Given the description of an element on the screen output the (x, y) to click on. 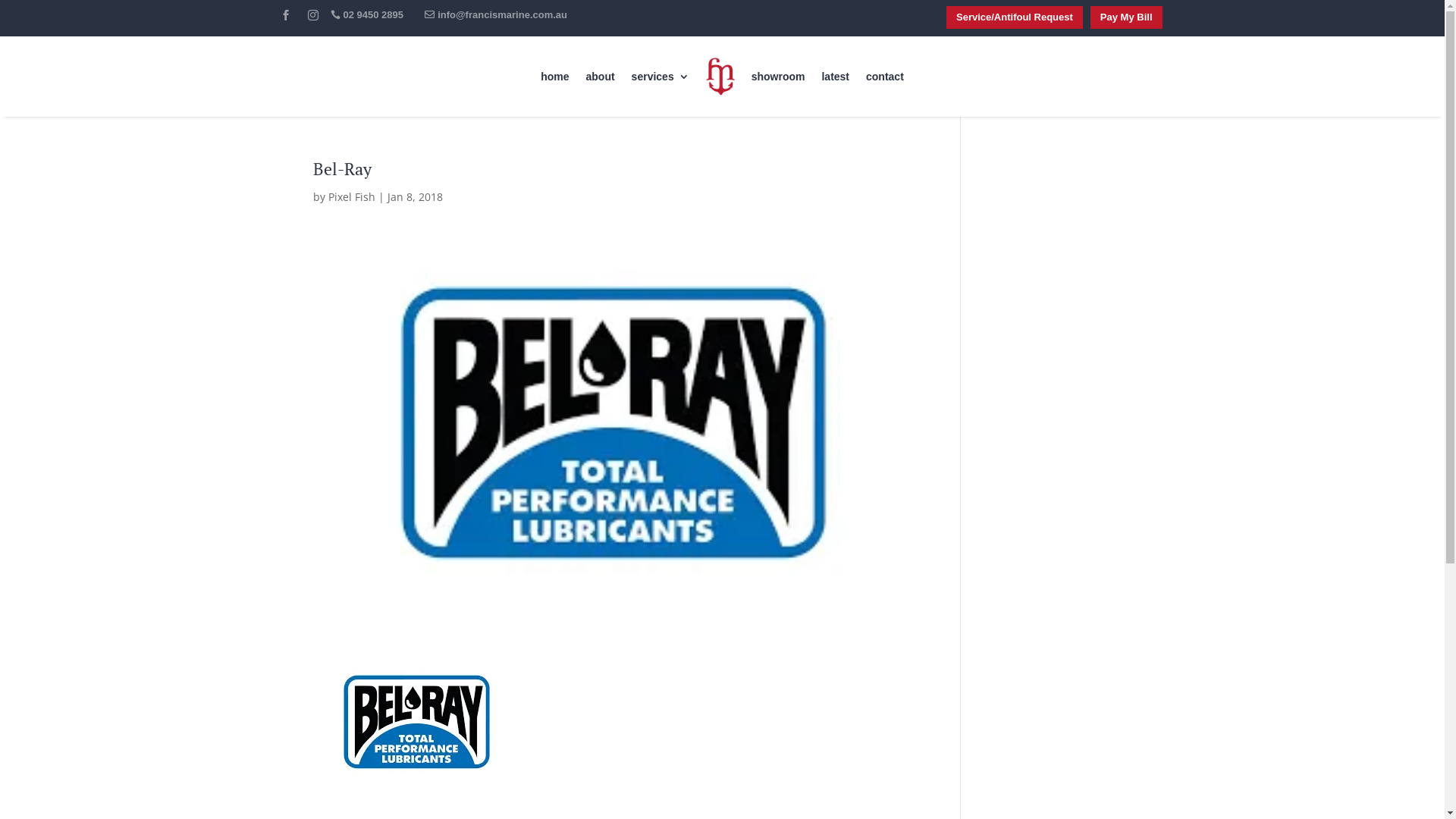
Follow on Instagram Element type: hover (312, 14)
about Element type: text (599, 76)
latest Element type: text (835, 76)
Follow on Facebook Element type: hover (284, 14)
Pixel Fish Element type: text (350, 196)
Service/Antifoul Request Element type: text (1014, 17)
services Element type: text (660, 76)
contact Element type: text (884, 76)
Pay My Bill Element type: text (1126, 17)
02 9450 2895 Element type: text (366, 14)
home Element type: text (554, 76)
showroom Element type: text (778, 76)
info@francismarine.com.au Element type: text (495, 14)
